Given the description of an element on the screen output the (x, y) to click on. 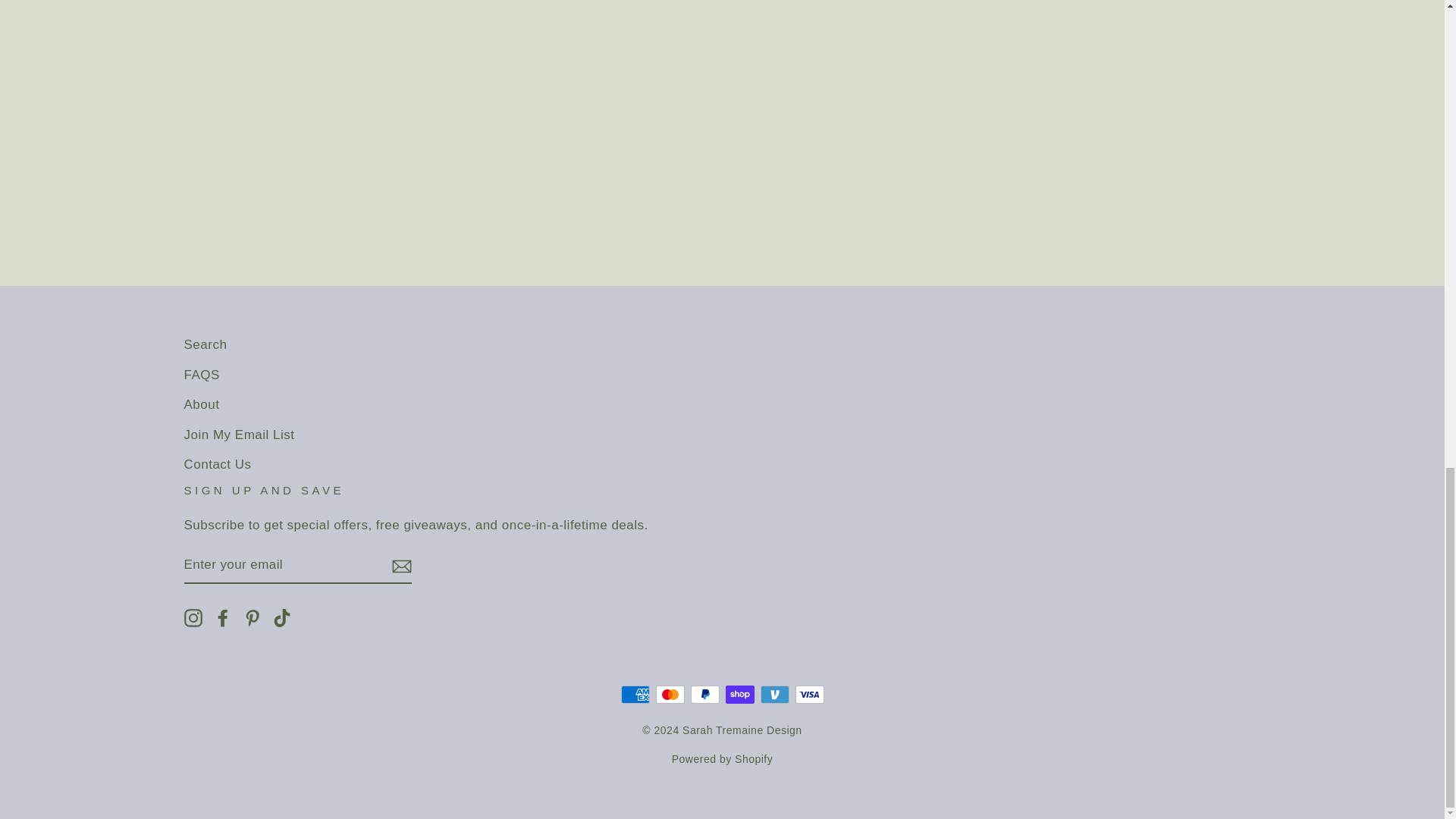
American Express (634, 694)
PayPal (704, 694)
Sarah Tremaine Design on TikTok (282, 616)
Mastercard (669, 694)
